Given the description of an element on the screen output the (x, y) to click on. 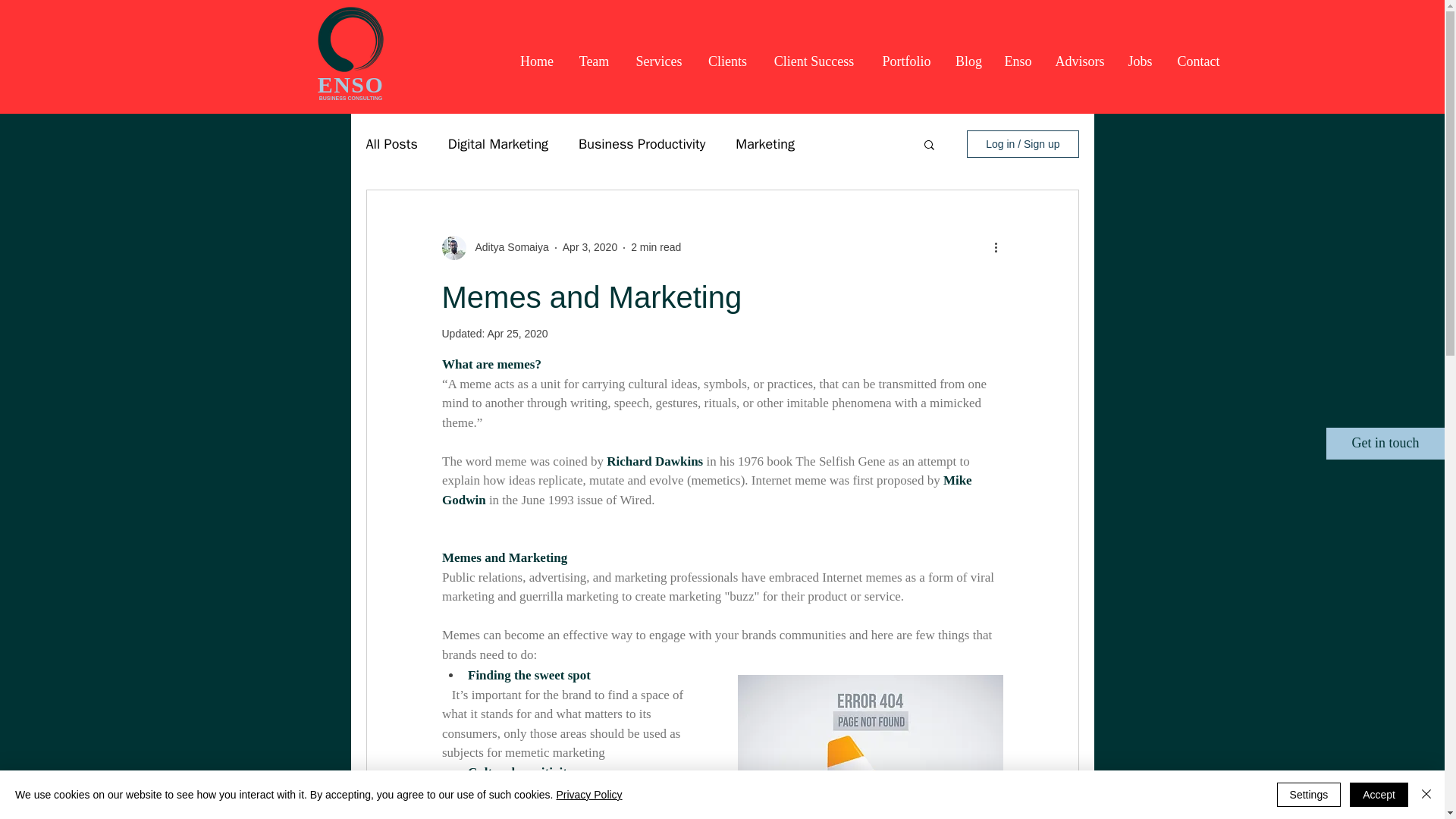
Business Productivity (641, 144)
Apr 25, 2020 (516, 333)
meme (476, 382)
BUSINESS CONSULTING (350, 97)
ENSO (350, 84)
2 min read (655, 246)
Advisors (1079, 60)
Blog (968, 60)
Contact (1198, 60)
Client Success (814, 60)
